Given the description of an element on the screen output the (x, y) to click on. 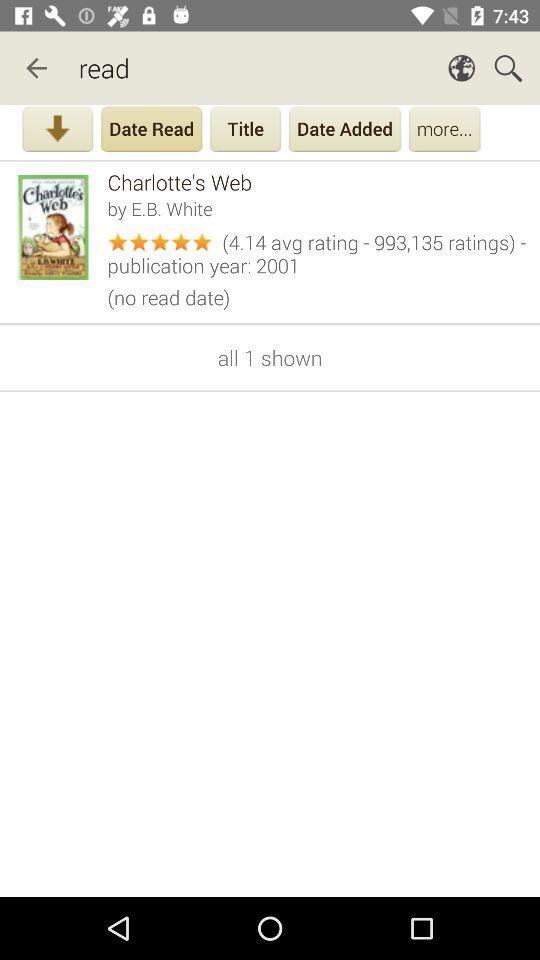
scroll until by e b (316, 208)
